Given the description of an element on the screen output the (x, y) to click on. 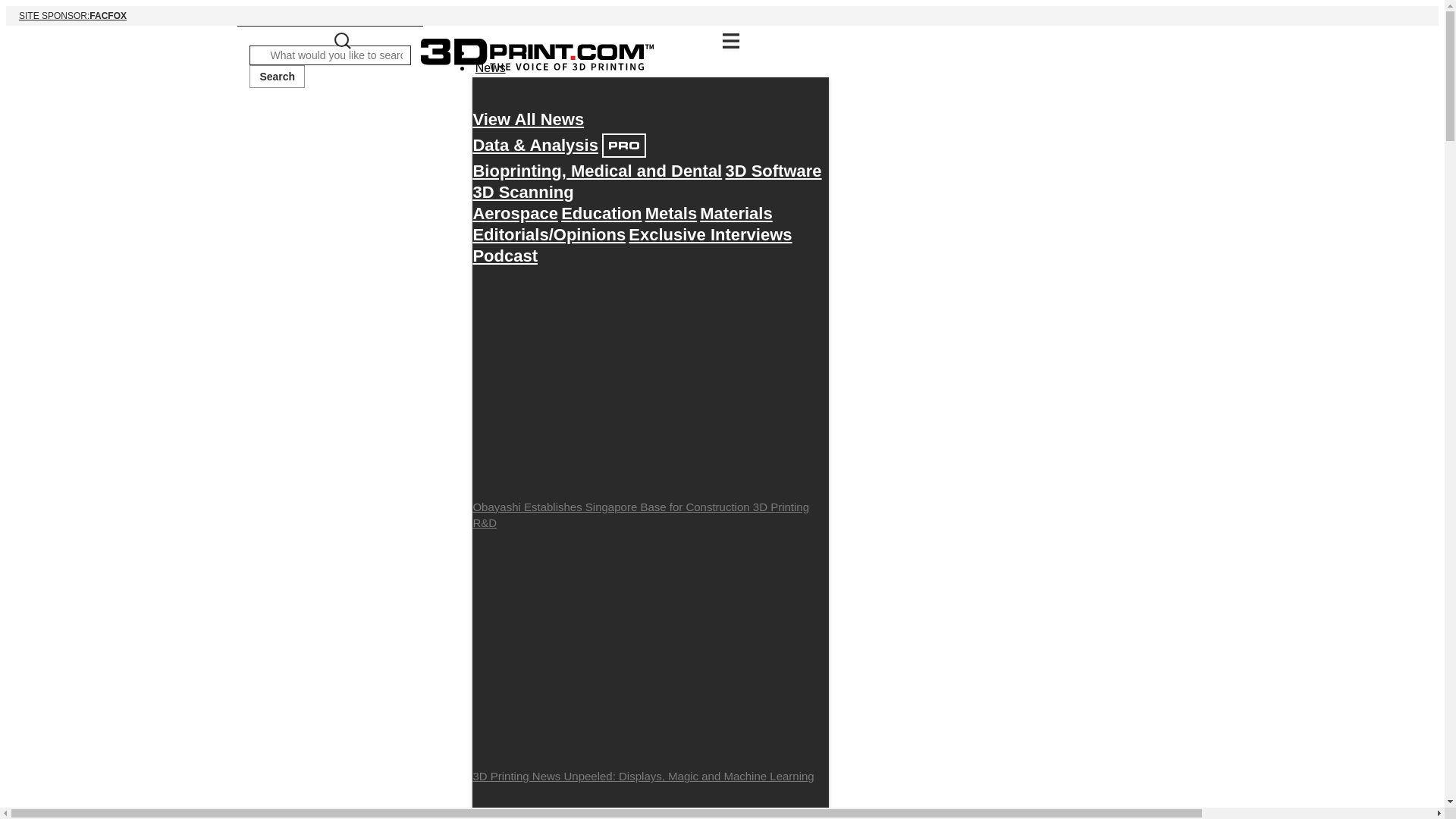
News (488, 67)
Education (601, 213)
Bioprinting, Medical and Dental (596, 170)
Metals (671, 213)
Materials (735, 213)
Exclusive Interviews (710, 234)
Aerospace (514, 213)
Search (276, 76)
3D Software (773, 170)
View All News (721, 15)
Podcast (527, 119)
3D Scanning (504, 255)
